Given the description of an element on the screen output the (x, y) to click on. 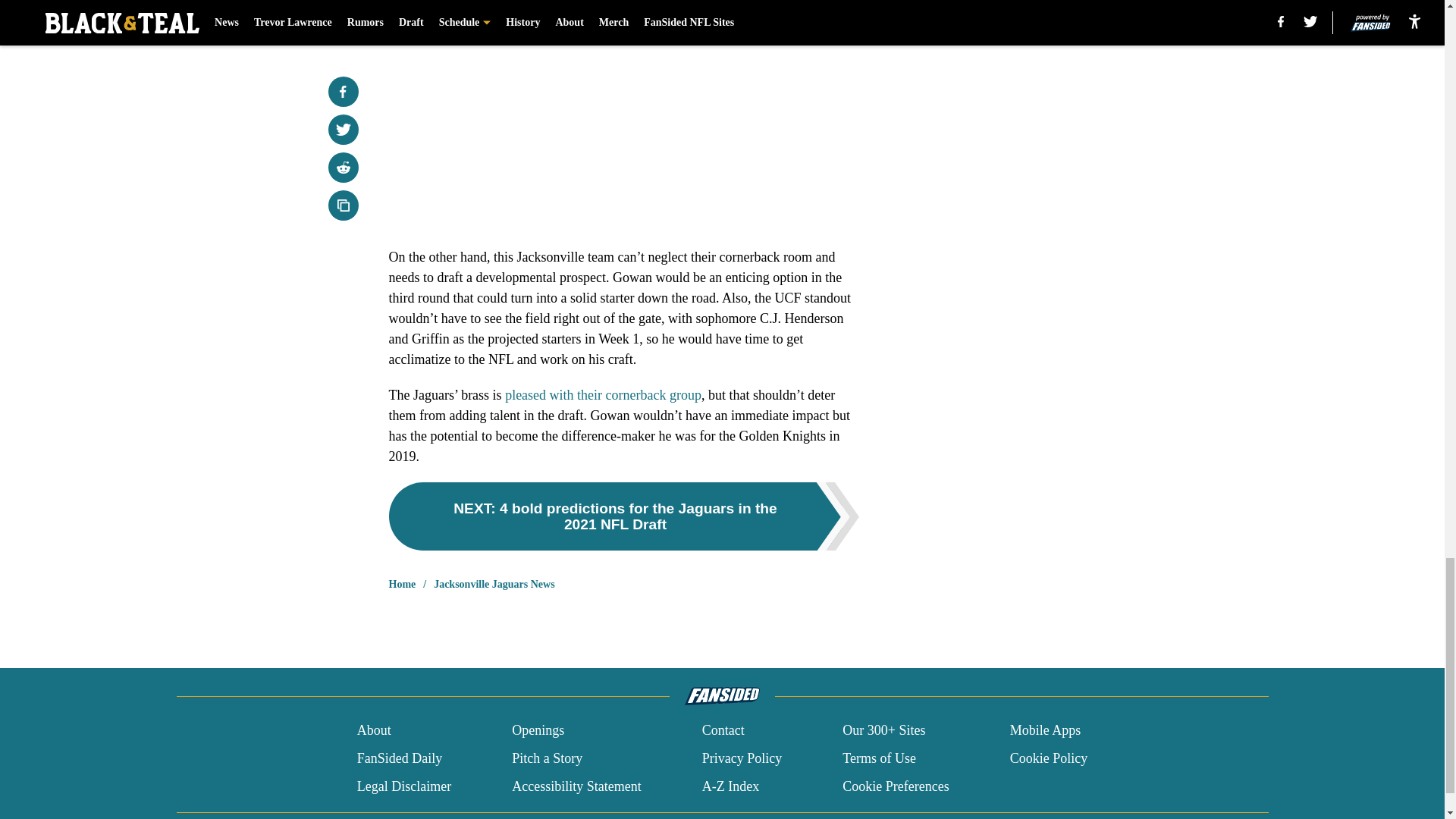
Terms of Use (879, 758)
About (373, 730)
Mobile Apps (1045, 730)
Legal Disclaimer (403, 786)
Home (401, 584)
Cookie Policy (1048, 758)
Contact (722, 730)
pleased with their cornerback group (603, 394)
Pitch a Story (547, 758)
